Given the description of an element on the screen output the (x, y) to click on. 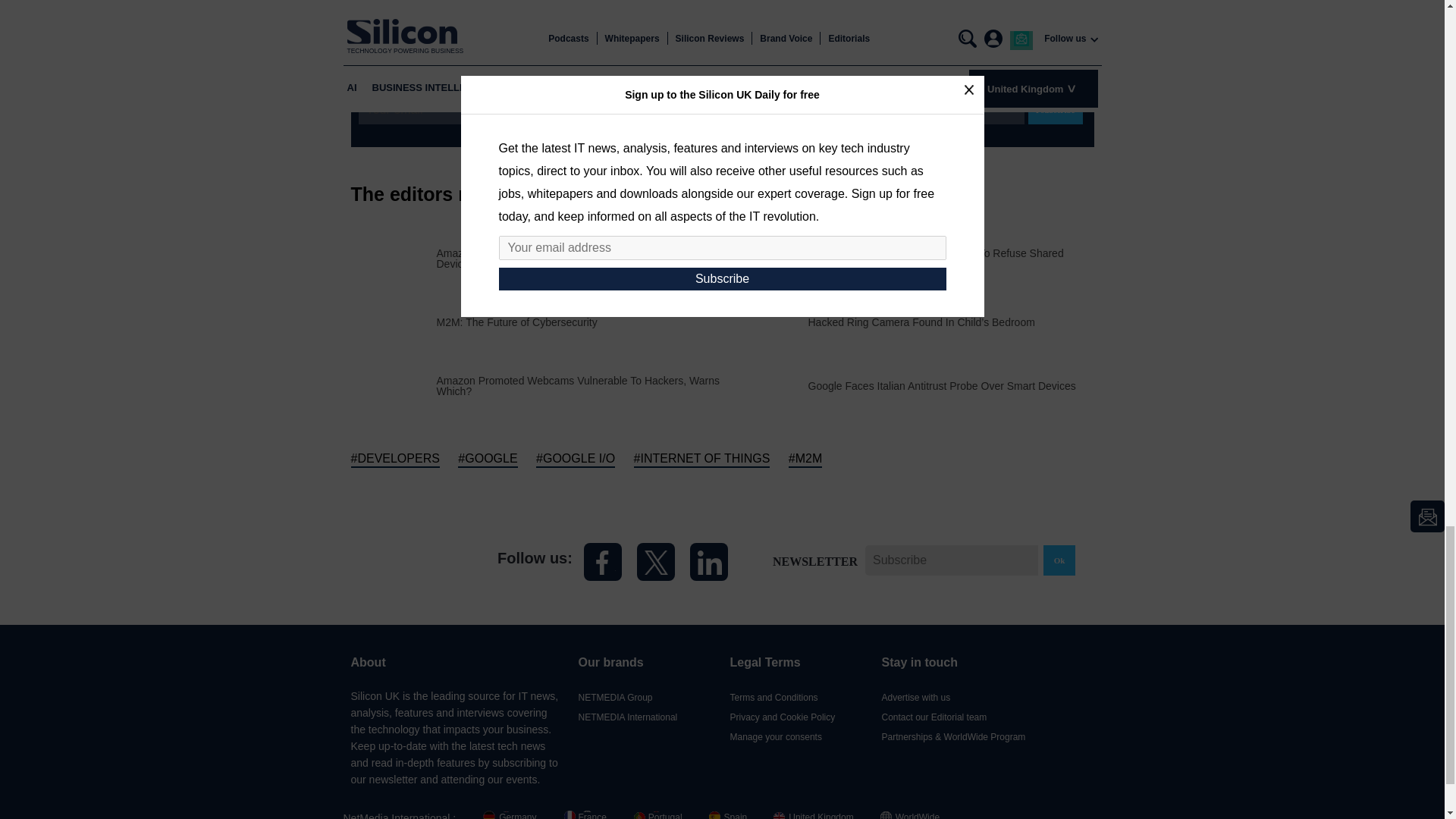
Amazon Promoted Webcams Vulnerable To Hackers, Warns Which? (579, 384)
Amazon Opens Sidewalk Mesh Network To Third-Party Devices (579, 257)
Google Faces Italian Antitrust Probe Over Smart Devices (941, 385)
M2M: The Future of Cybersecurity (516, 321)
